Given the description of an element on the screen output the (x, y) to click on. 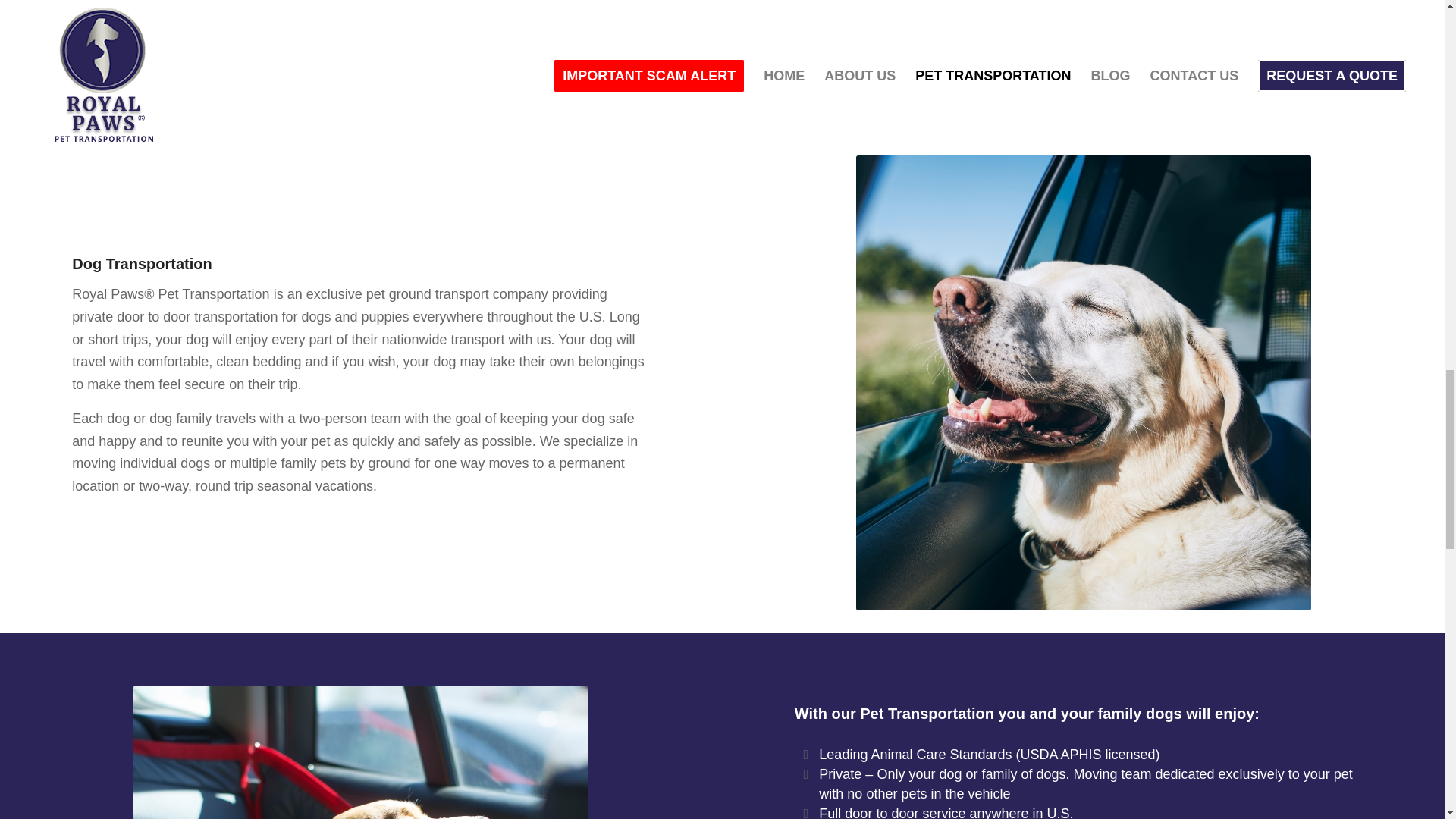
dog back seat 600x600 (360, 752)
cat car seat (360, 58)
